Given the description of an element on the screen output the (x, y) to click on. 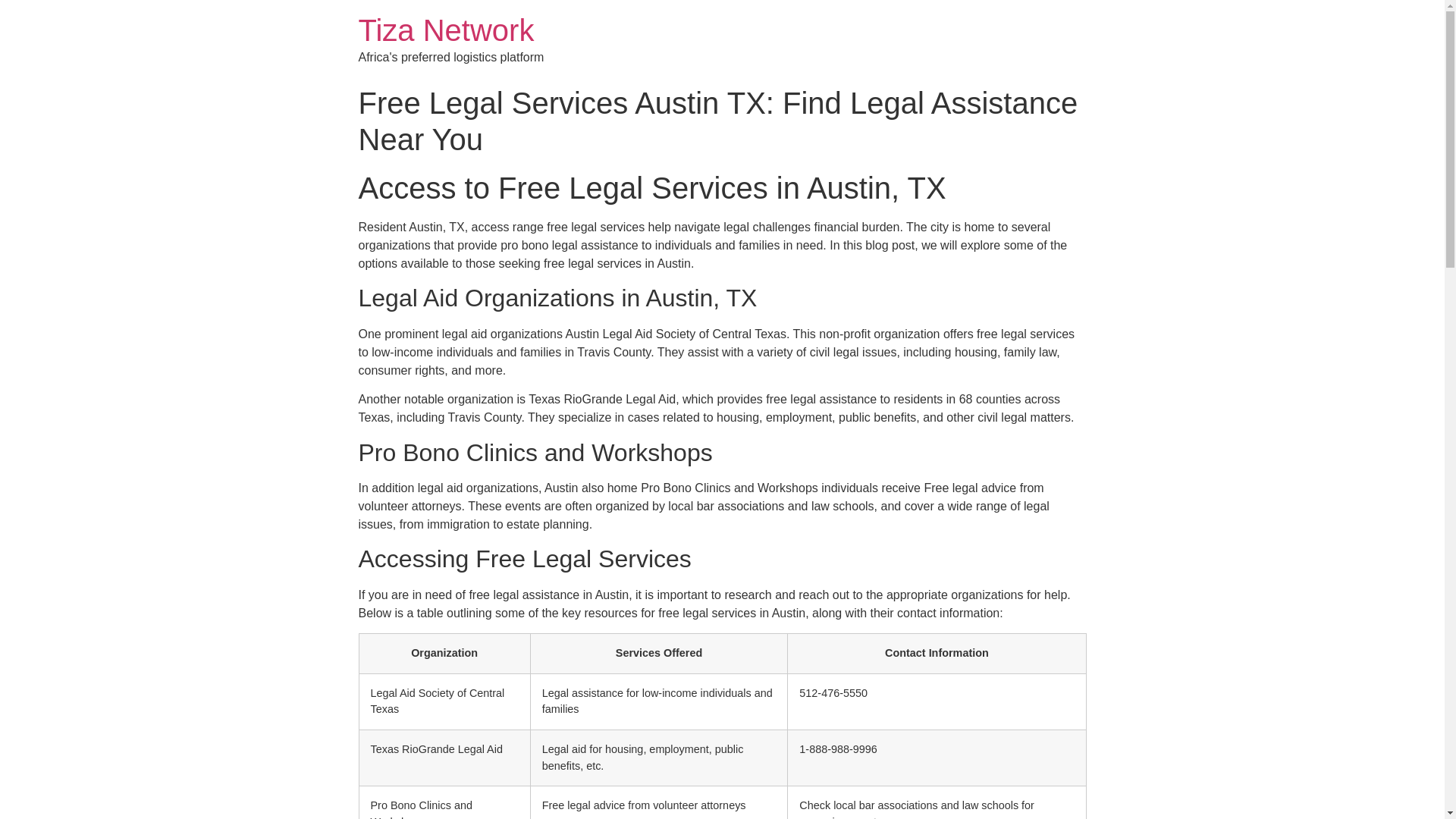
Tiza Network (446, 29)
Home (446, 29)
